Given the description of an element on the screen output the (x, y) to click on. 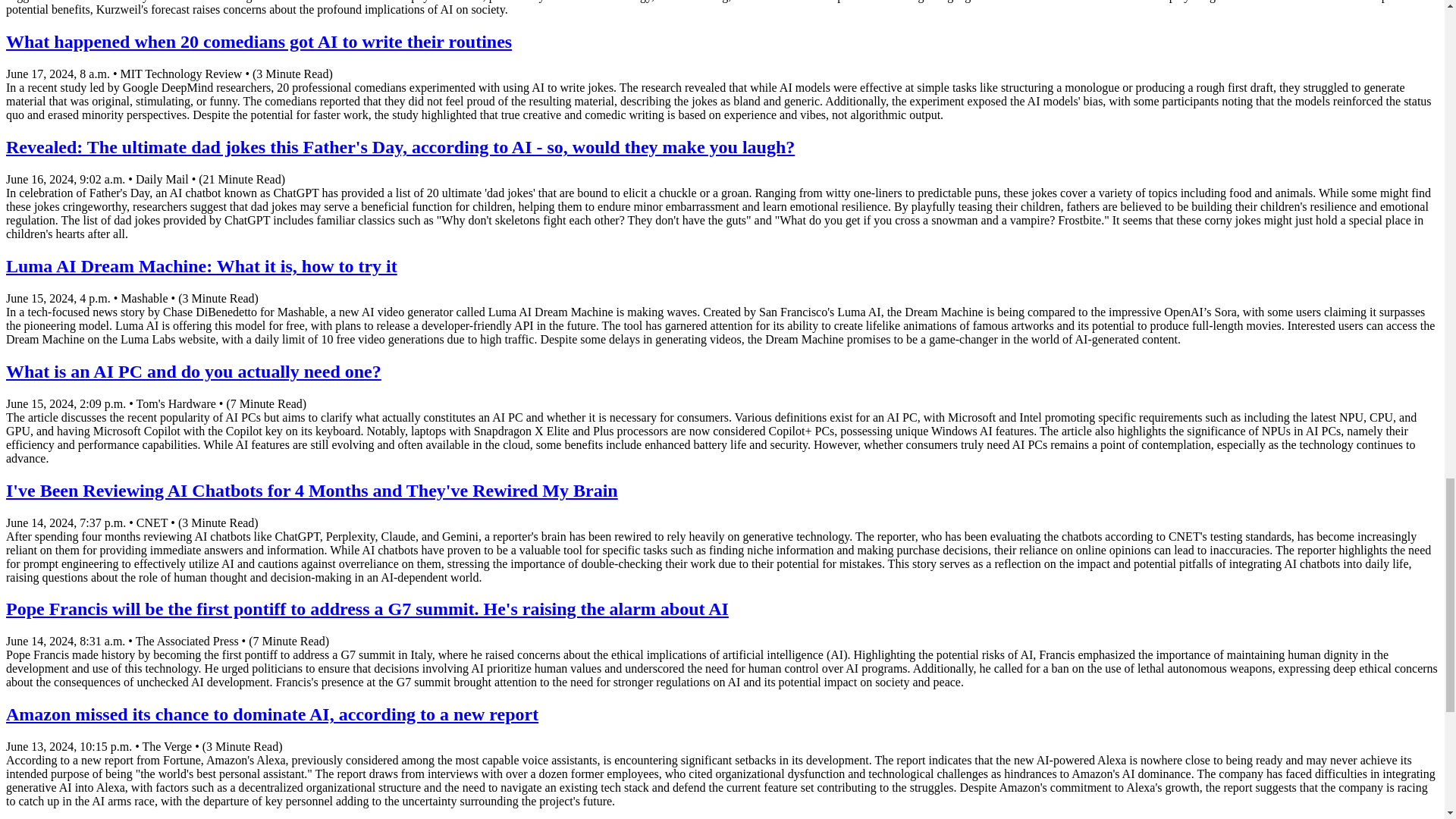
What is an AI PC and do you actually need one? (193, 371)
Luma AI Dream Machine: What it is, how to try it (201, 266)
